Given the description of an element on the screen output the (x, y) to click on. 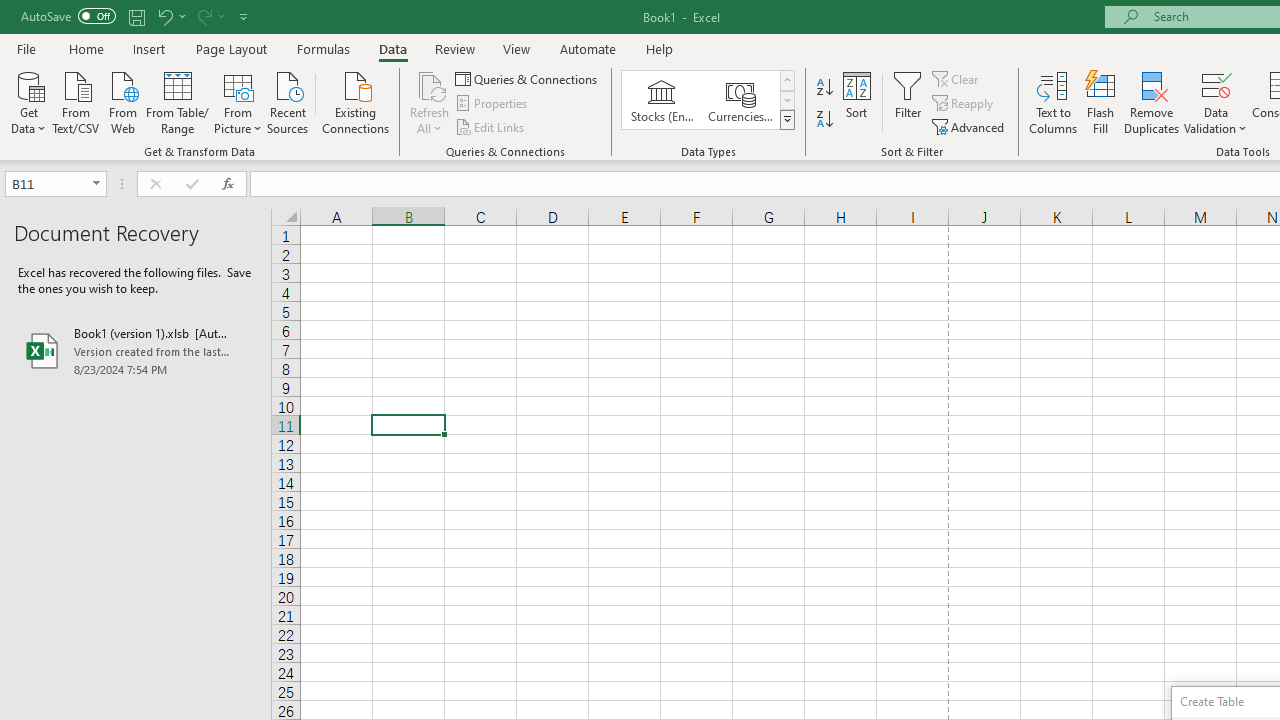
Data Validation... (1215, 84)
Data Types (786, 120)
Advanced... (970, 126)
Automate (588, 48)
Edit Links (491, 126)
Reapply (964, 103)
AutomationID: ConvertToLinkedEntity (708, 99)
Properties (492, 103)
Sort... (856, 102)
Existing Connections (355, 101)
Refresh All (429, 84)
